Given the description of an element on the screen output the (x, y) to click on. 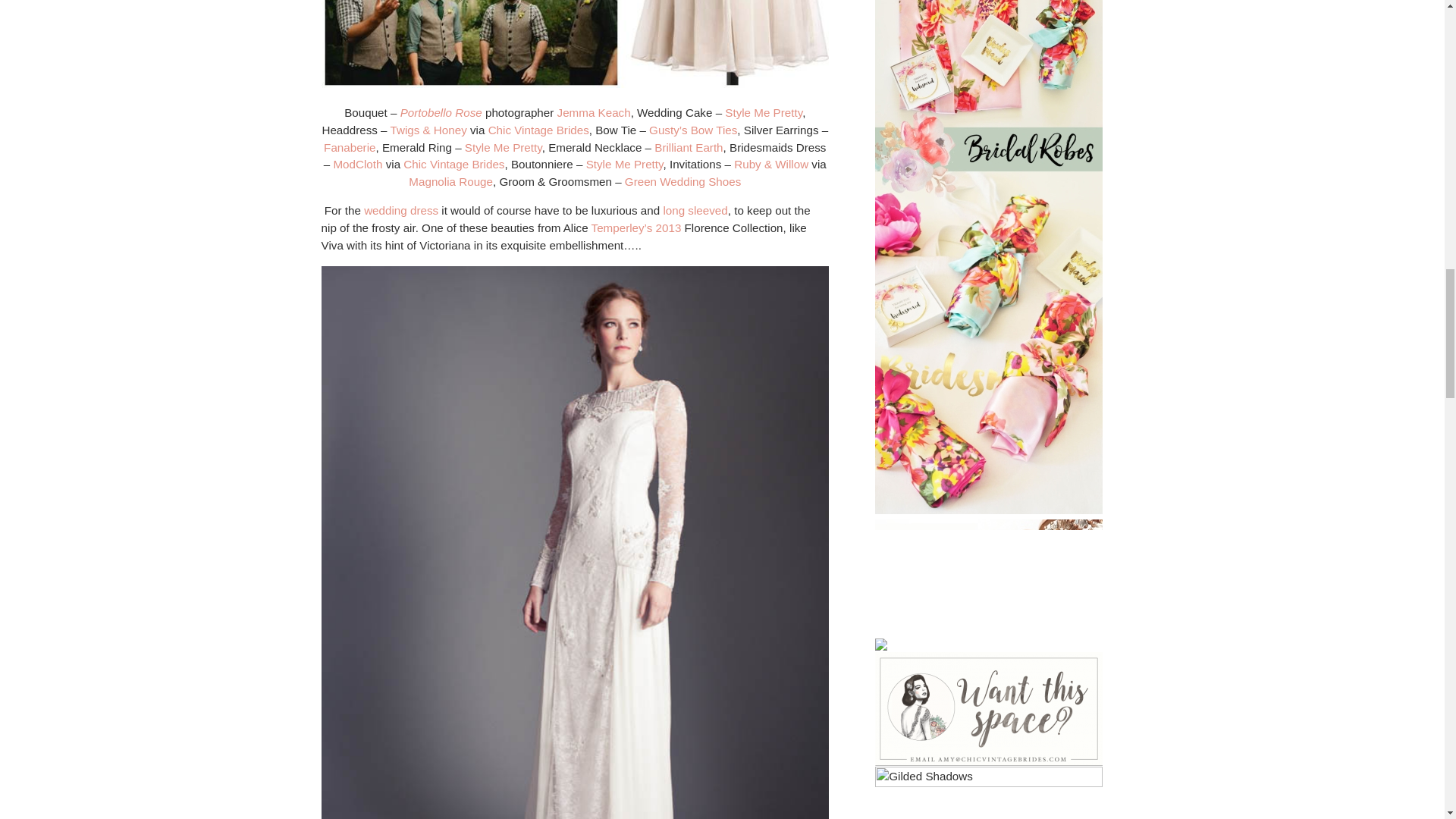
Emerald Green Christmas Wedding Inspiration Board (574, 43)
